Given the description of an element on the screen output the (x, y) to click on. 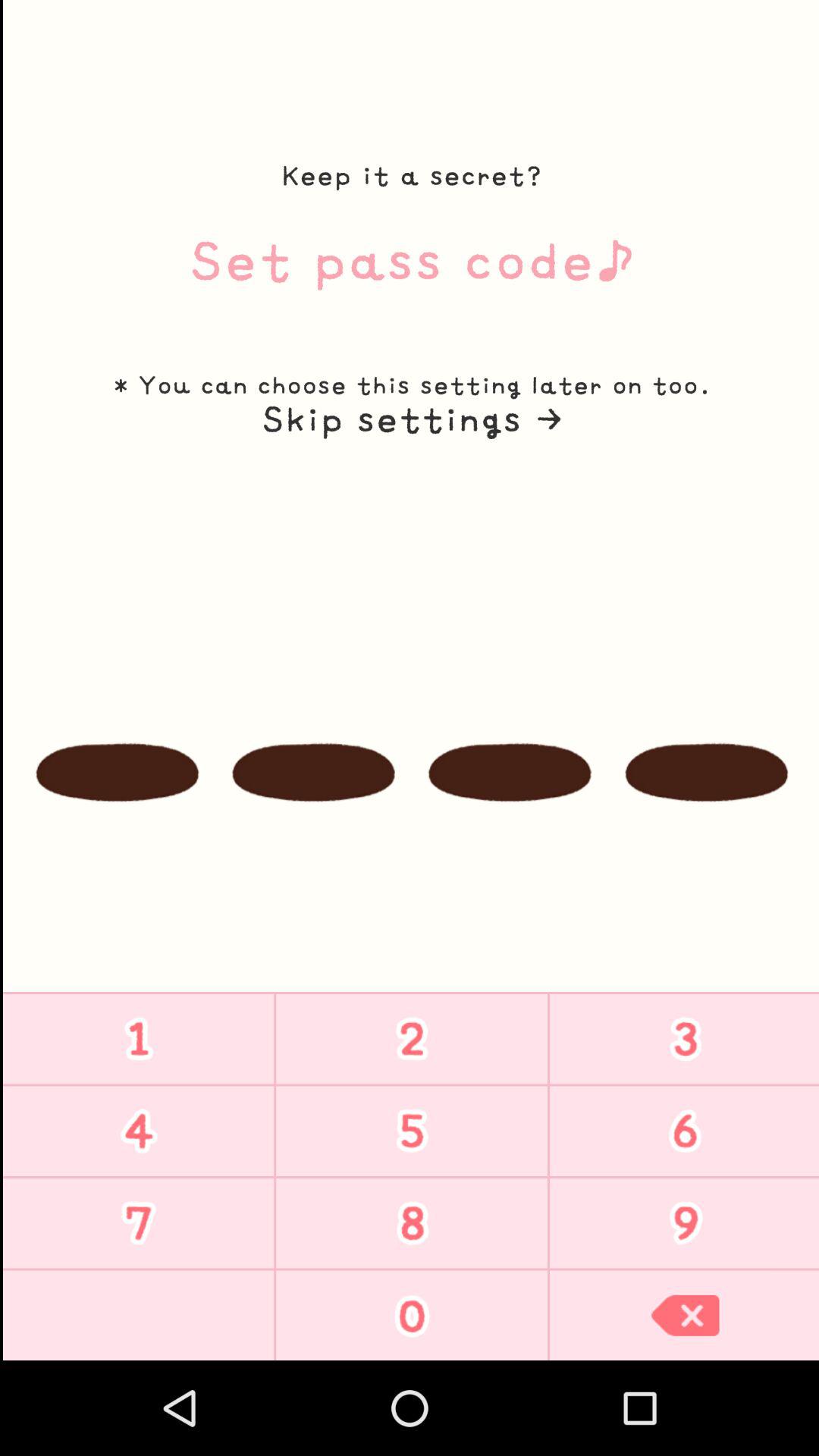
press the icon below the you can choose icon (409, 419)
